Given the description of an element on the screen output the (x, y) to click on. 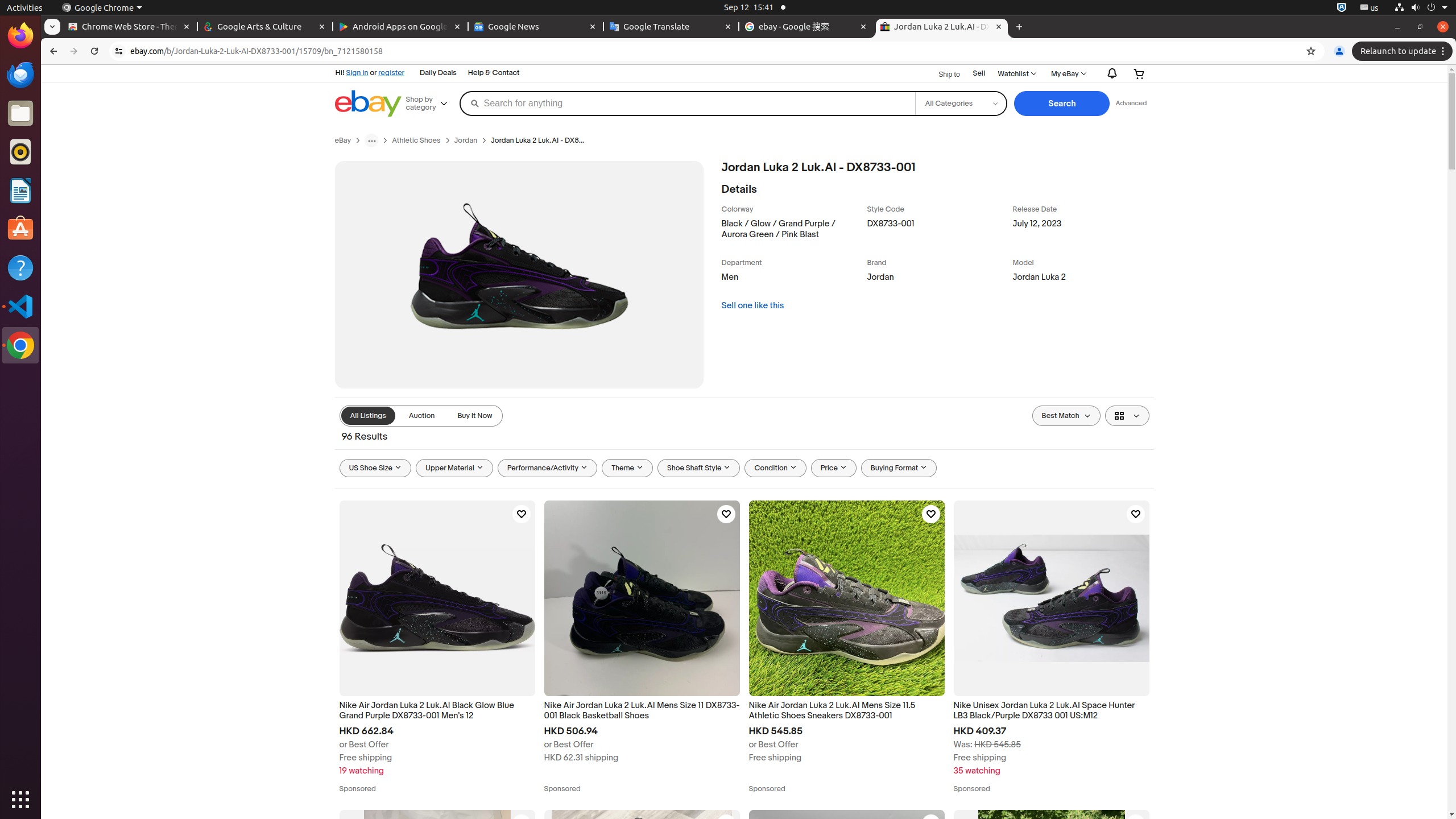
eBay Element type: link (342, 140)
Click to watch item - Nike Air Jordan Luka 2 Luk.AI Mens Size 11 DX8733-001 Black Basketball Shoes Element type: push-button (725, 514)
Sell Element type: link (978, 73)
All Categories Element type: menu-item (960, 103)
eBay Home Element type: link (367, 103)
